Given the description of an element on the screen output the (x, y) to click on. 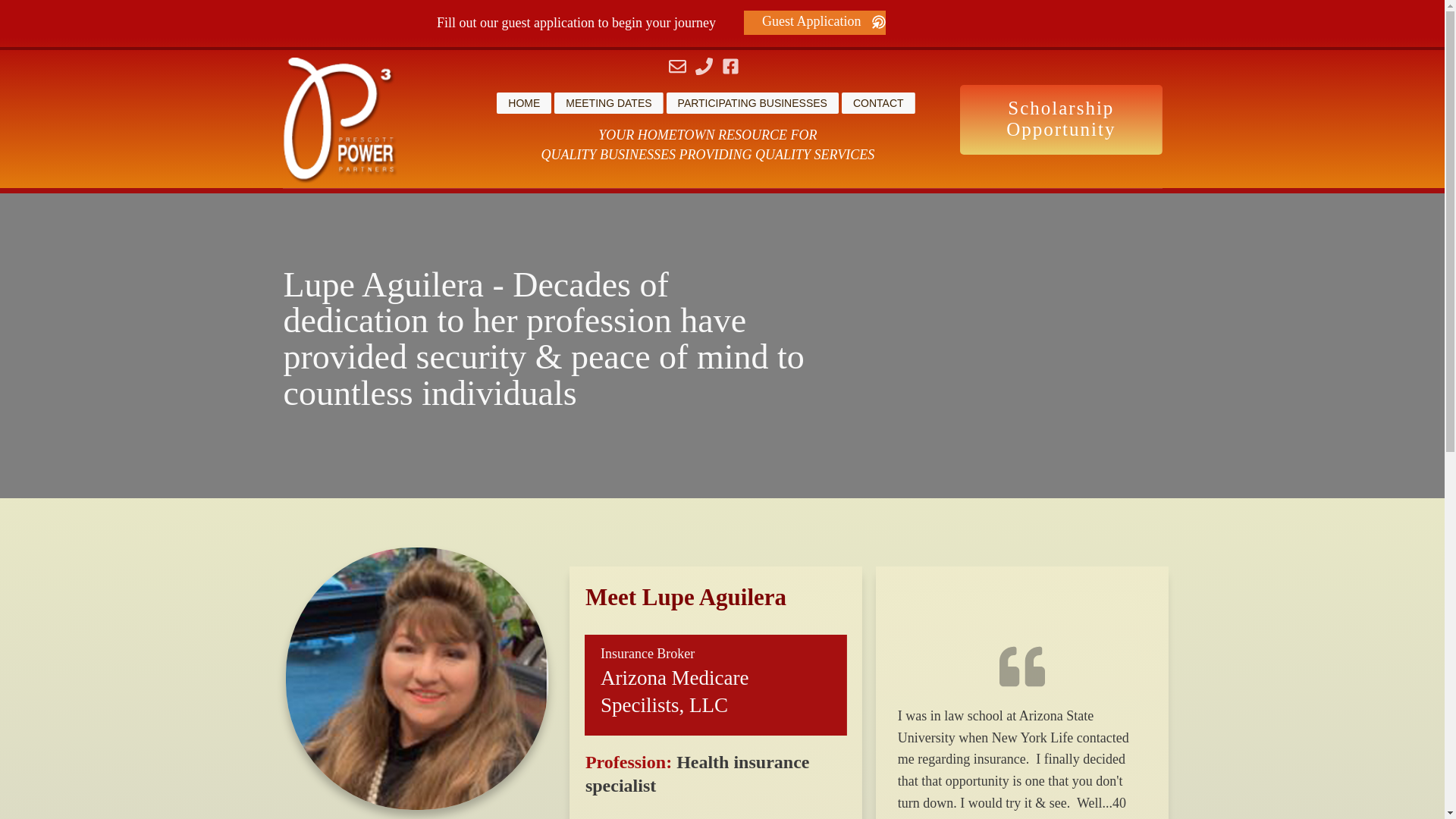
MEETING DATES (608, 102)
HOME (524, 102)
Guest Application (814, 22)
Lupe Aguilera (416, 678)
PARTICIPATING BUSINESSES (752, 102)
CONTACT (878, 102)
Scholarship Opportunity (1060, 119)
